Given the description of an element on the screen output the (x, y) to click on. 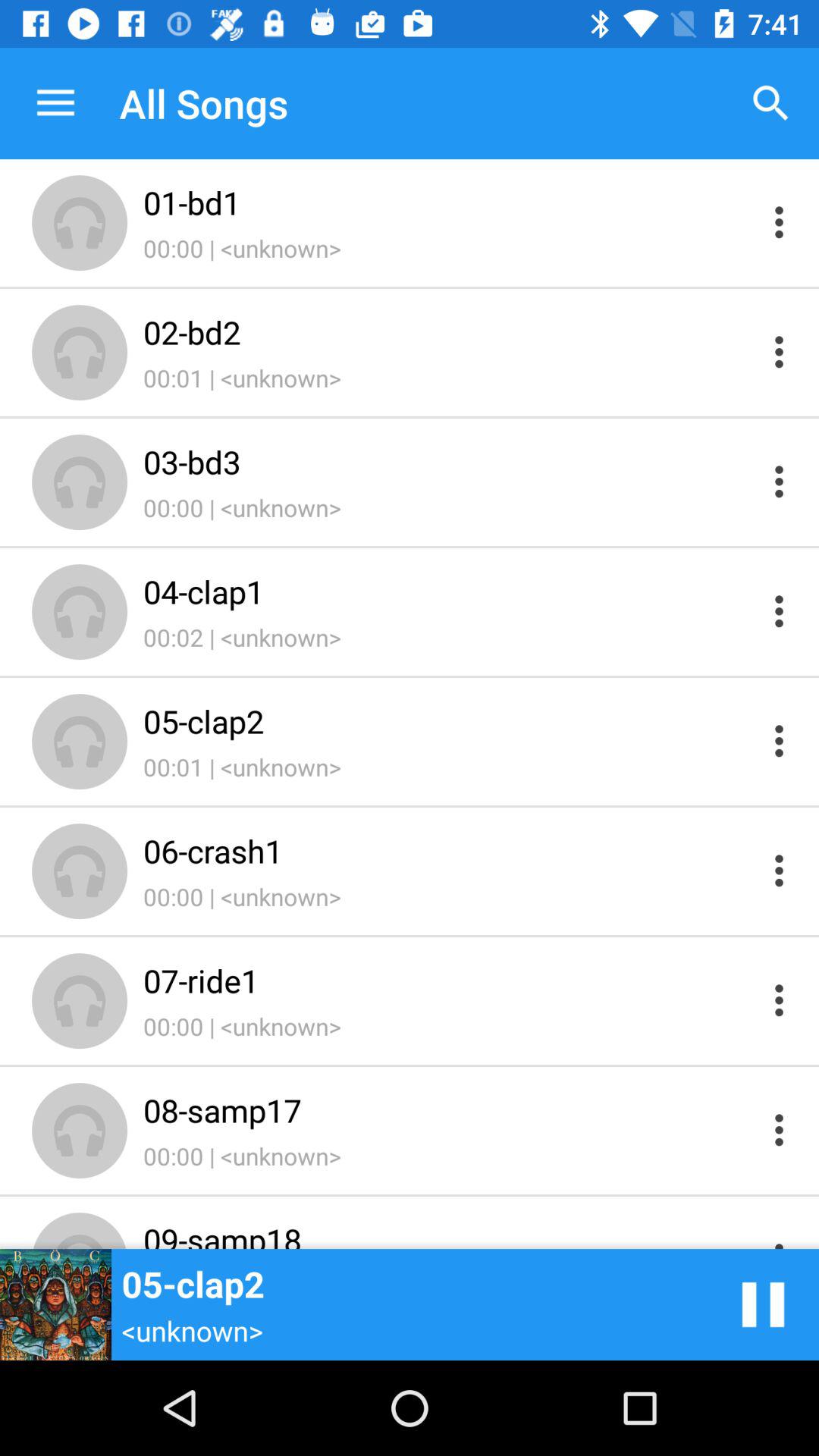
more options (779, 870)
